Given the description of an element on the screen output the (x, y) to click on. 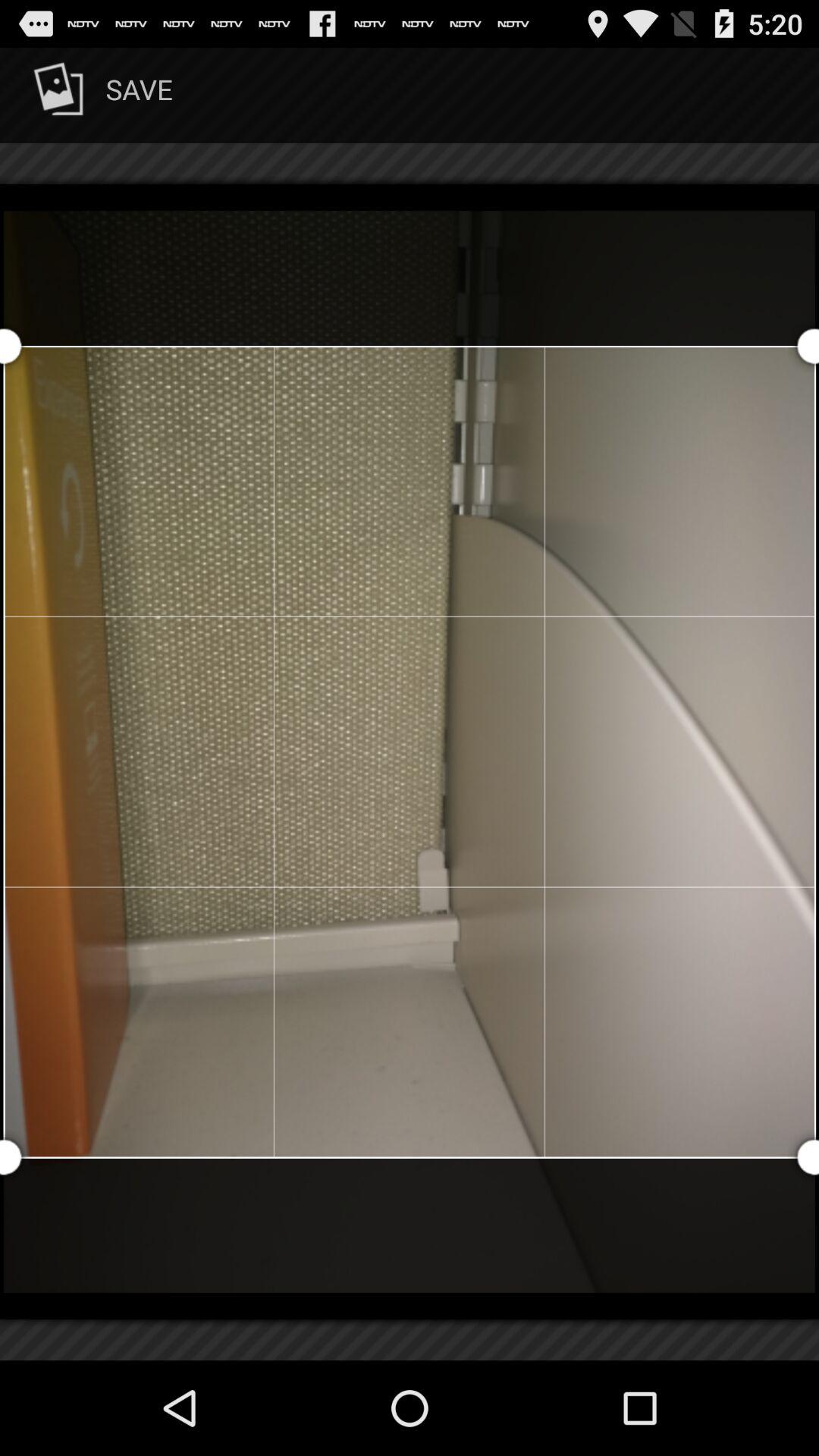
select the item at the top left corner (100, 95)
